Given the description of an element on the screen output the (x, y) to click on. 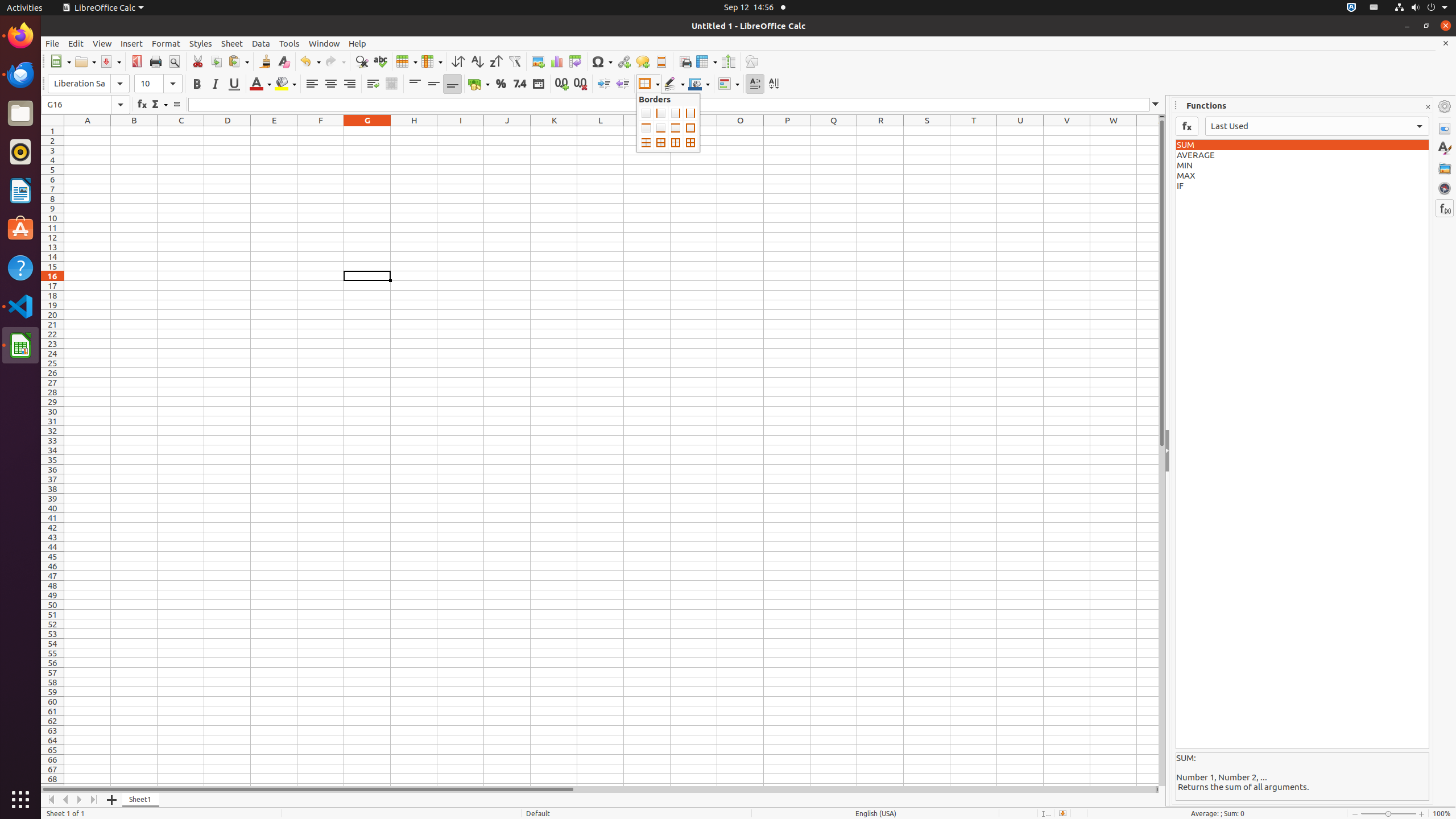
Name Box Element type: combo-box (85, 104)
Copy Element type: push-button (216, 61)
P1 Element type: table-cell (786, 130)
Properties Element type: radio-button (1444, 128)
Headers and Footers Element type: push-button (660, 61)
